Given the description of an element on the screen output the (x, y) to click on. 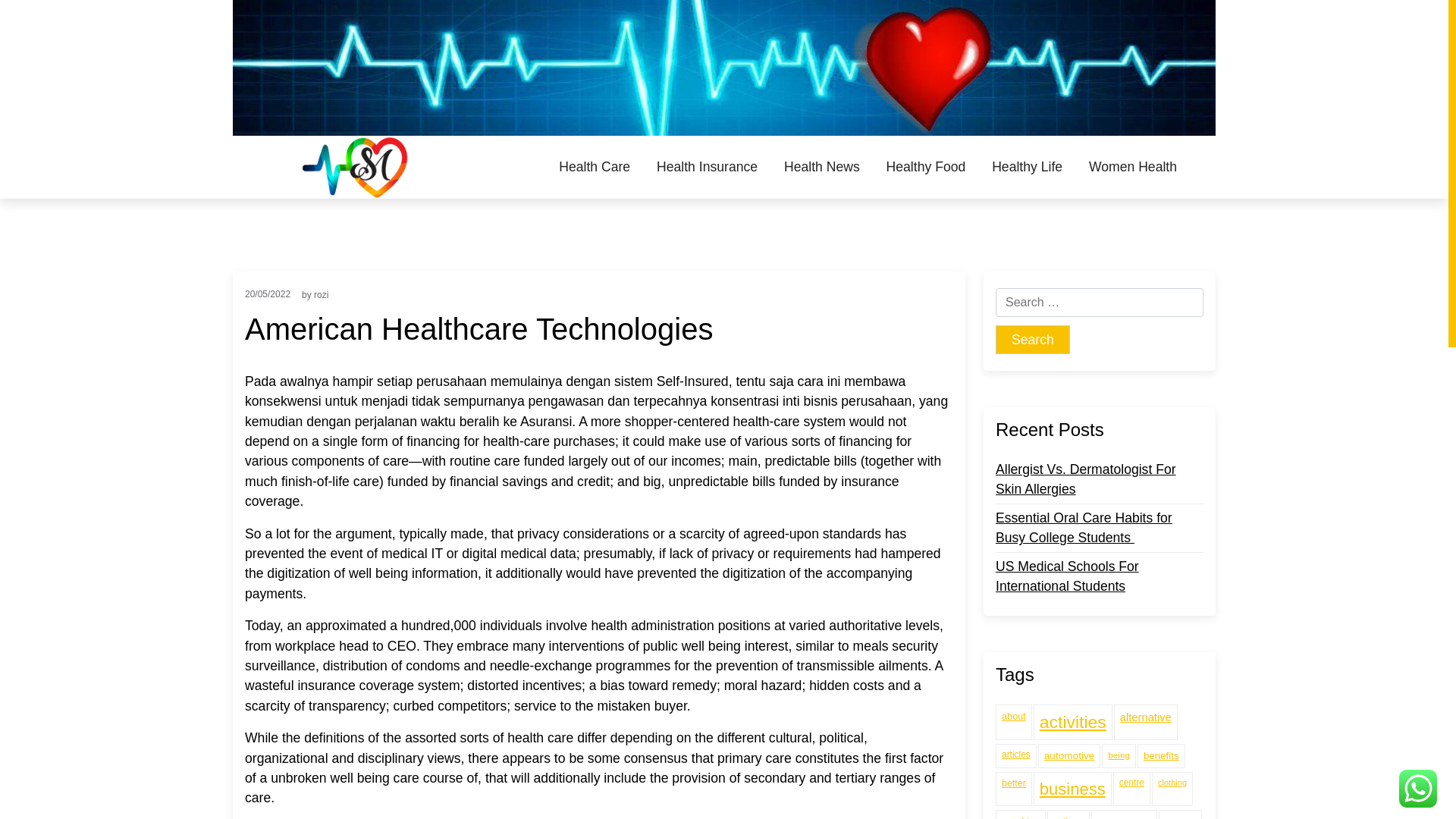
about (1013, 721)
clothing (1171, 788)
Healthy Life (1026, 166)
Health Insurance (706, 166)
business (1072, 788)
better (1013, 788)
education (1123, 814)
being (1118, 755)
automotive (1069, 755)
college (1067, 814)
